Given the description of an element on the screen output the (x, y) to click on. 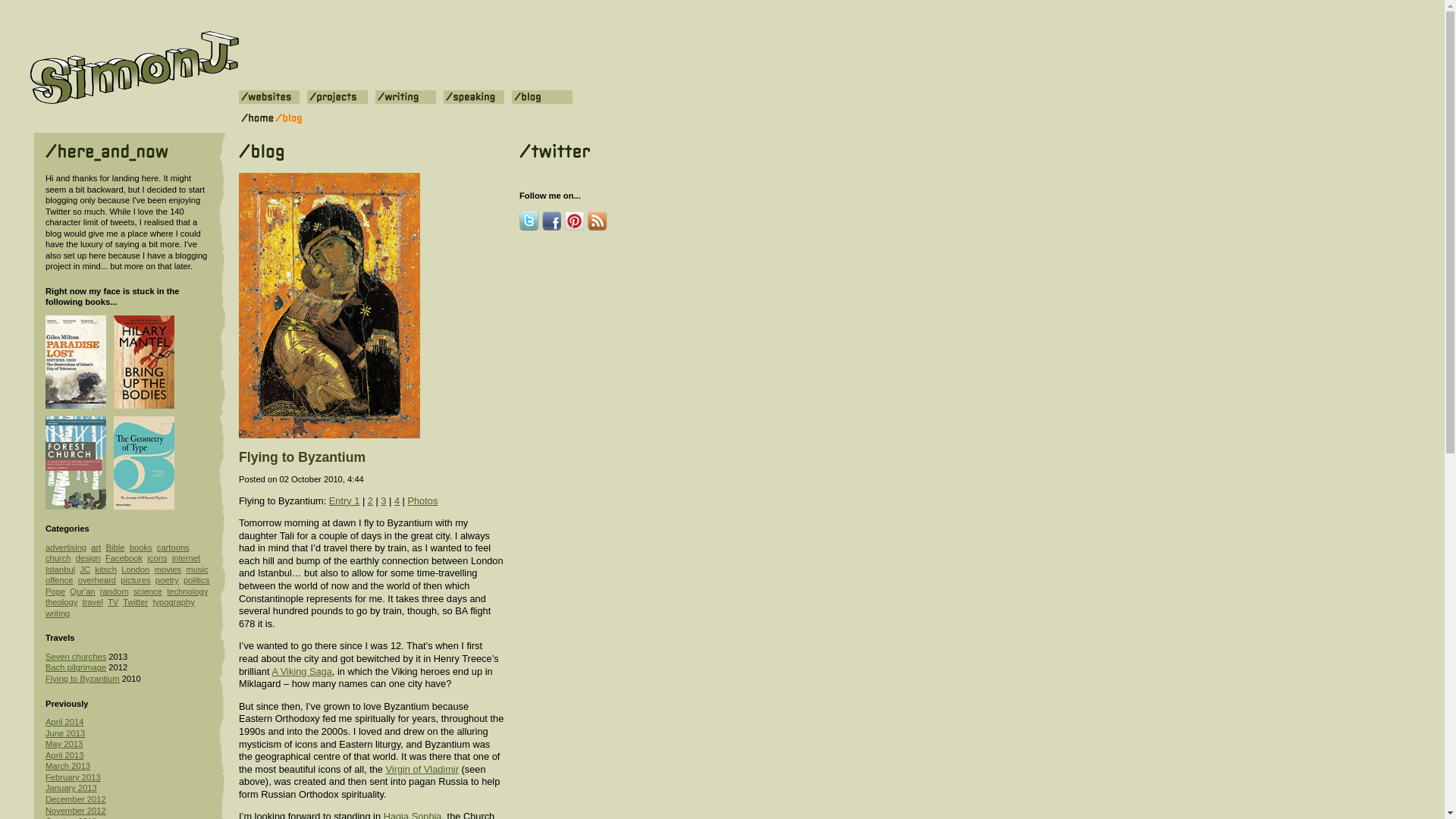
icons (157, 557)
church (58, 557)
Virgin of Vladimir (421, 768)
Istanbul (60, 569)
random (114, 591)
kitsch (105, 569)
Hagia Sophia (413, 814)
overheard (97, 579)
London (134, 569)
books (140, 547)
